Given the description of an element on the screen output the (x, y) to click on. 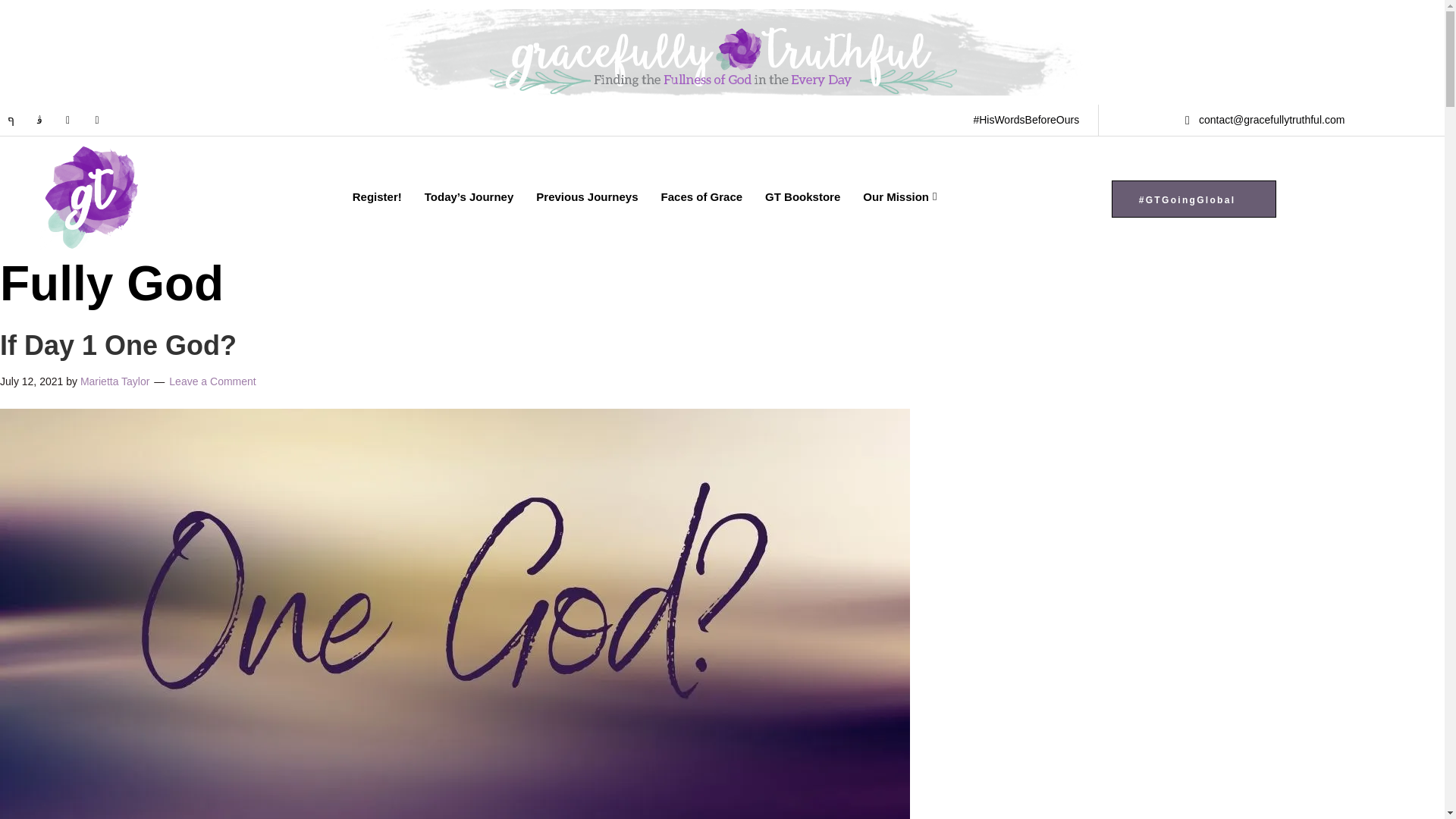
If Day 1 One God? (117, 345)
Posts by Marietta Taylor (114, 381)
Our Mission (899, 196)
Faces of Grace (701, 196)
GT Bookstore (802, 196)
Marietta Taylor (114, 381)
Leave a Comment (212, 381)
Previous Journeys (586, 196)
Register! (376, 196)
Monday, July 12, 2021, 3:00 am (31, 381)
